Given the description of an element on the screen output the (x, y) to click on. 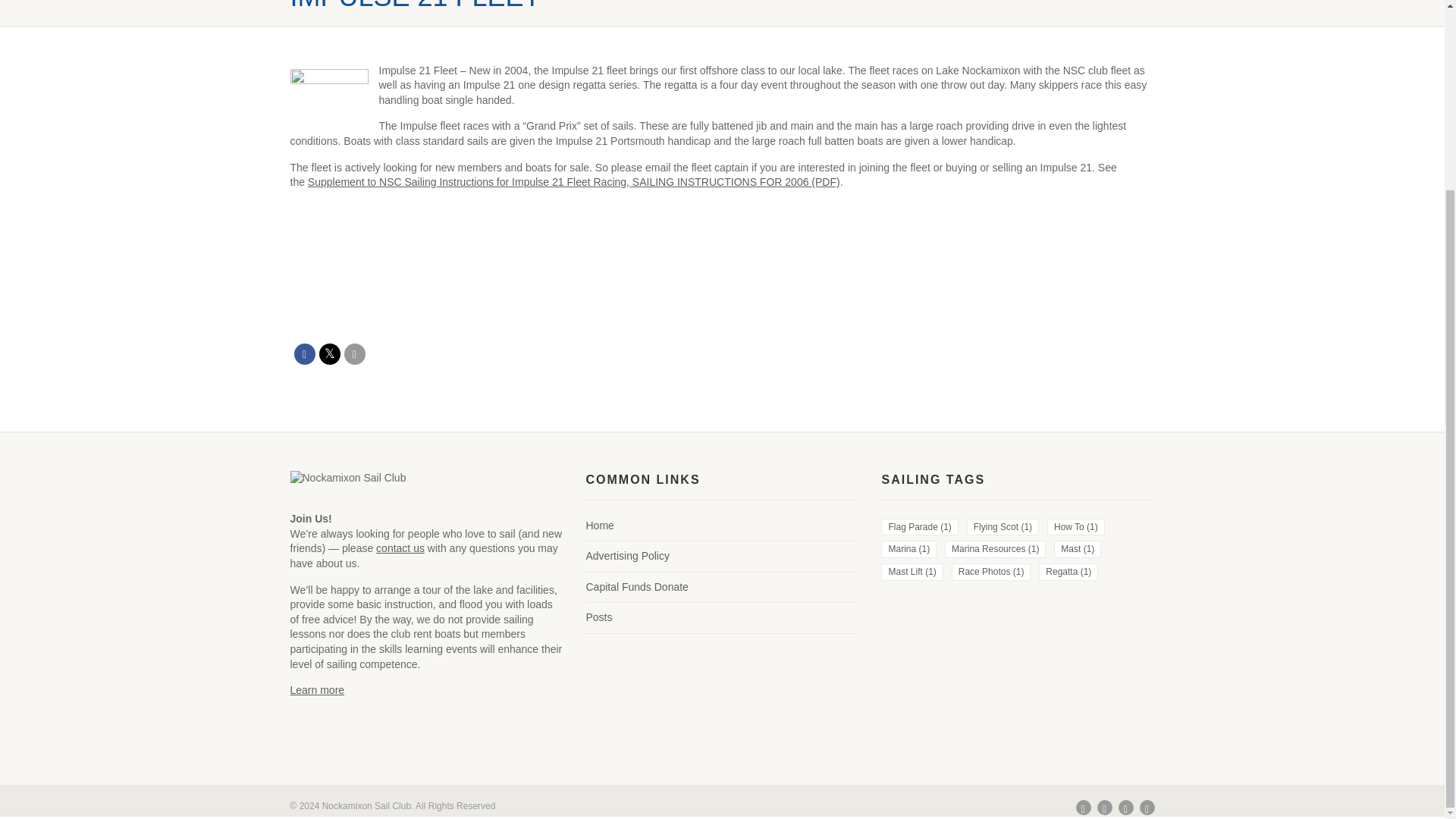
Advertising Policy (627, 556)
Capital Funds Donate (636, 587)
Email (354, 353)
Tweet (328, 353)
contact us (400, 548)
Share on Facebook (304, 353)
Learn more (316, 689)
Home (598, 525)
Posts (598, 617)
